Given the description of an element on the screen output the (x, y) to click on. 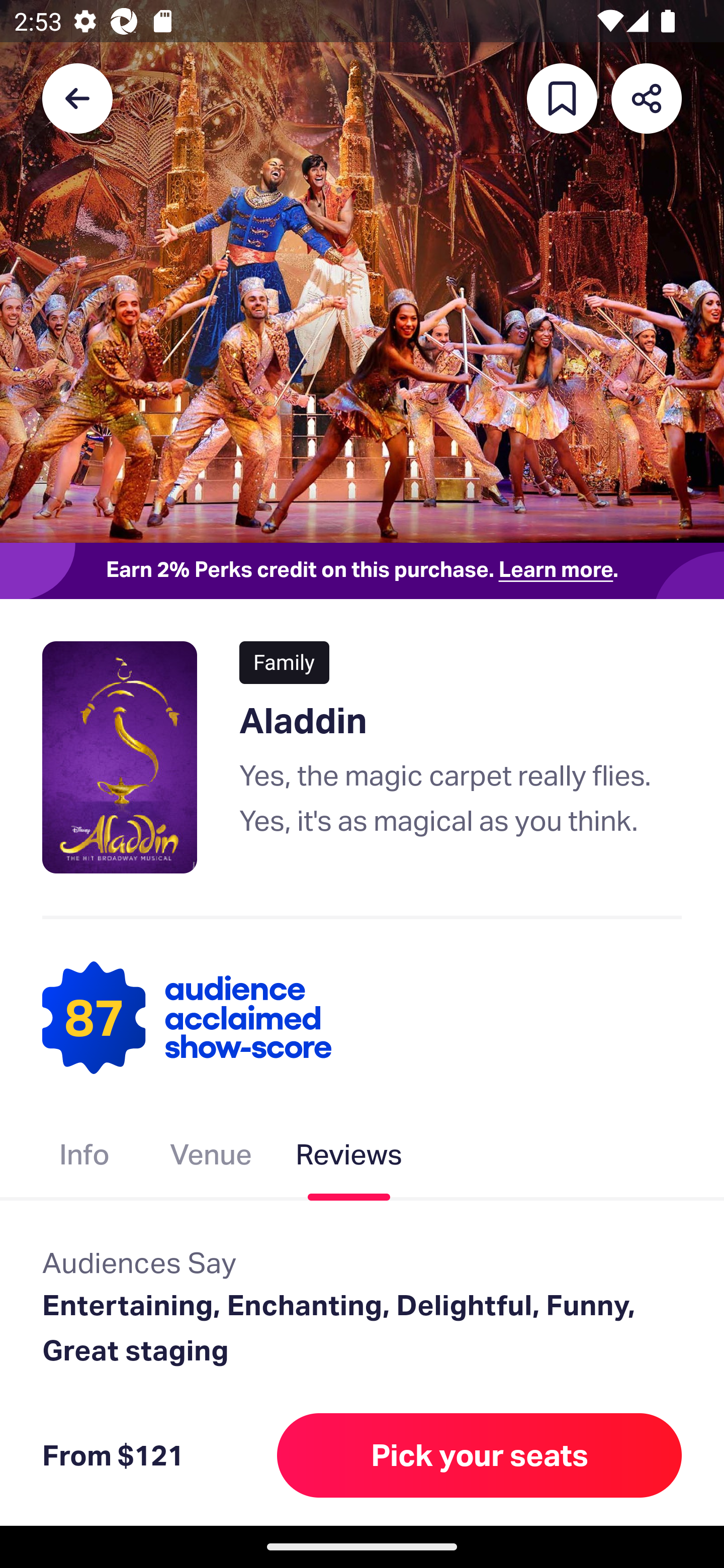
Earn 2% Perks credit on this purchase. Learn more. (362, 570)
Info (83, 1158)
Venue (210, 1158)
Pick your seats (479, 1454)
